Given the description of an element on the screen output the (x, y) to click on. 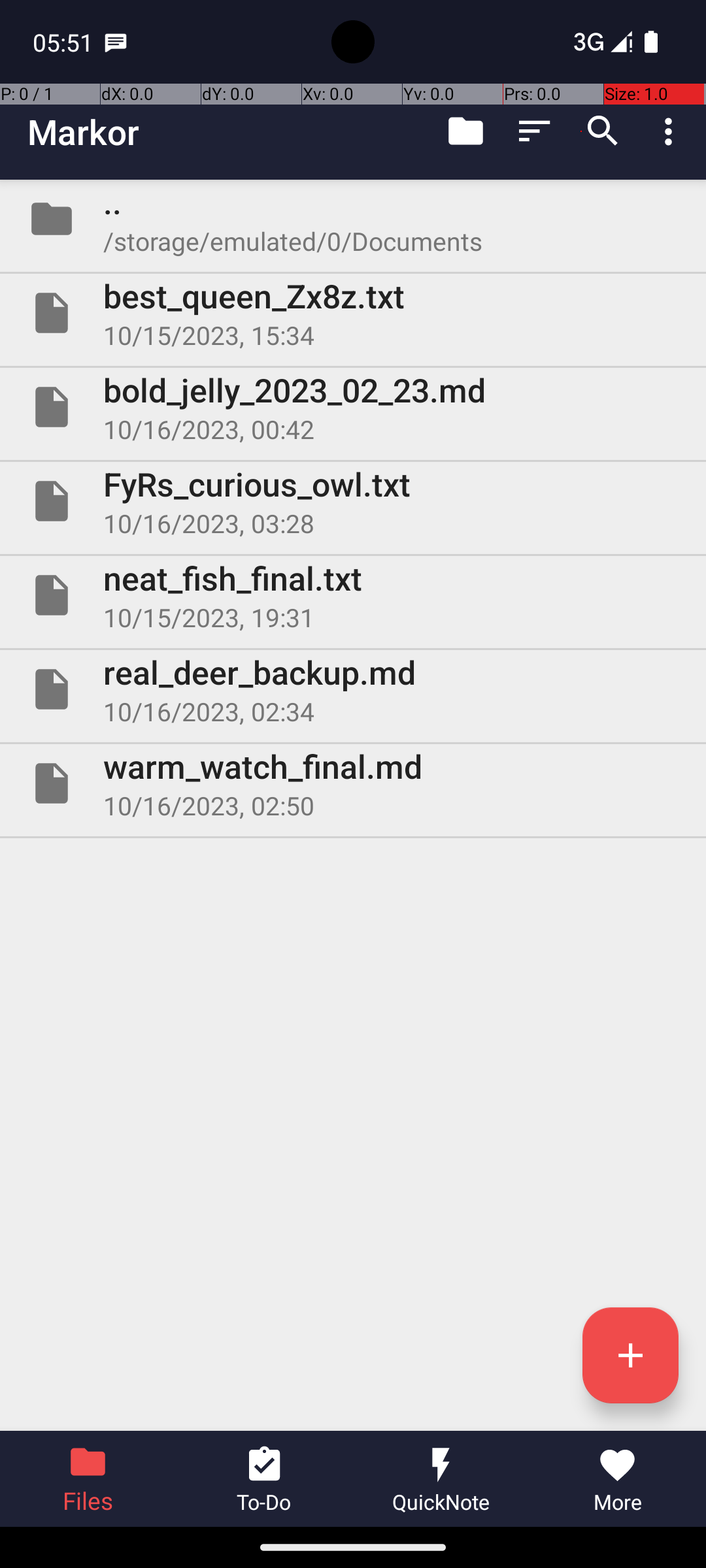
File best_queen_Zx8z.txt  Element type: android.widget.LinearLayout (353, 312)
File bold_jelly_2023_02_23.md  Element type: android.widget.LinearLayout (353, 406)
File FyRs_curious_owl.txt  Element type: android.widget.LinearLayout (353, 500)
File neat_fish_final.txt  Element type: android.widget.LinearLayout (353, 594)
File real_deer_backup.md  Element type: android.widget.LinearLayout (353, 689)
File warm_watch_final.md  Element type: android.widget.LinearLayout (353, 783)
05:51 Element type: android.widget.TextView (64, 41)
